Given the description of an element on the screen output the (x, y) to click on. 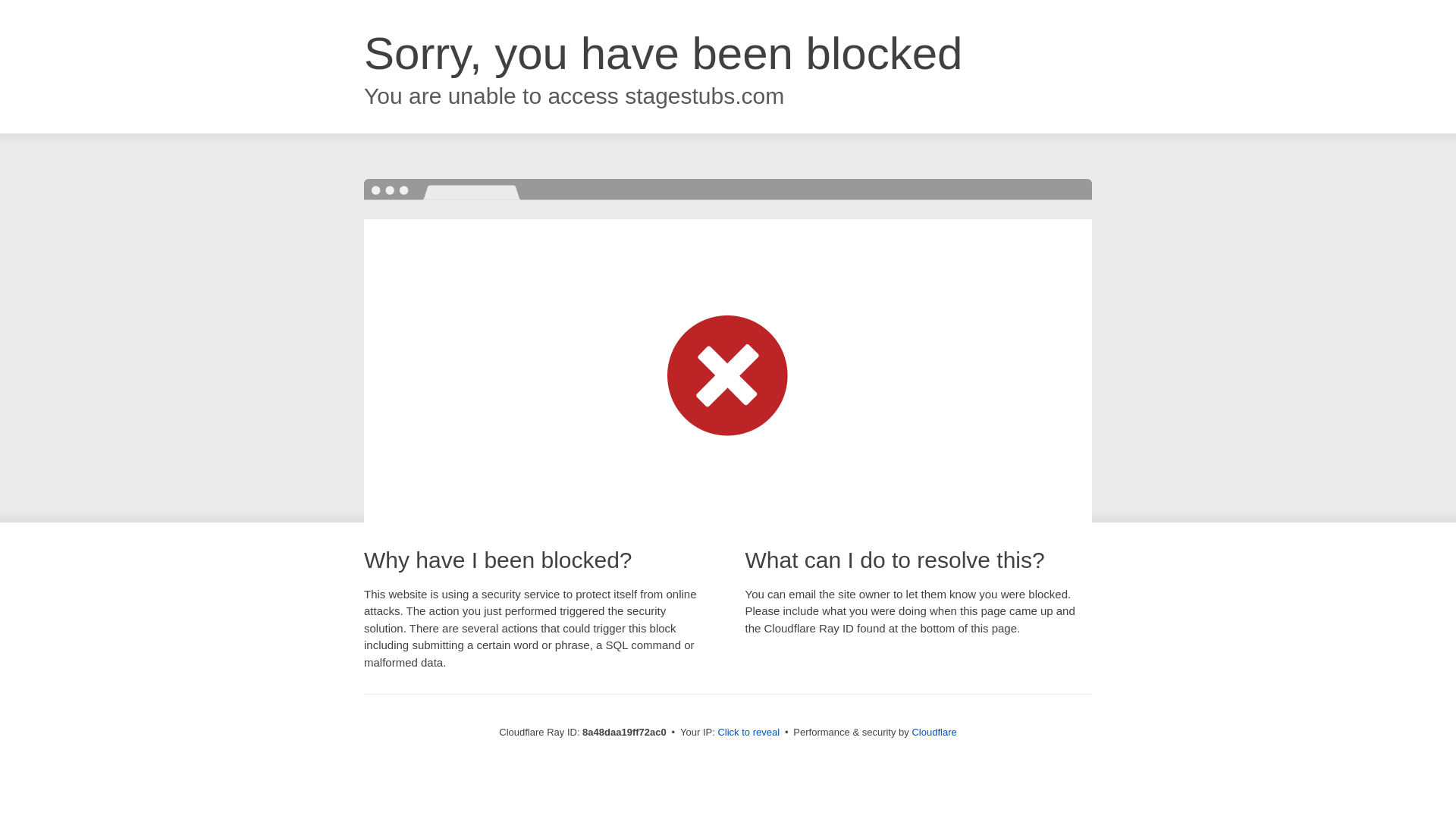
Cloudflare (933, 731)
Click to reveal (747, 732)
